Given the description of an element on the screen output the (x, y) to click on. 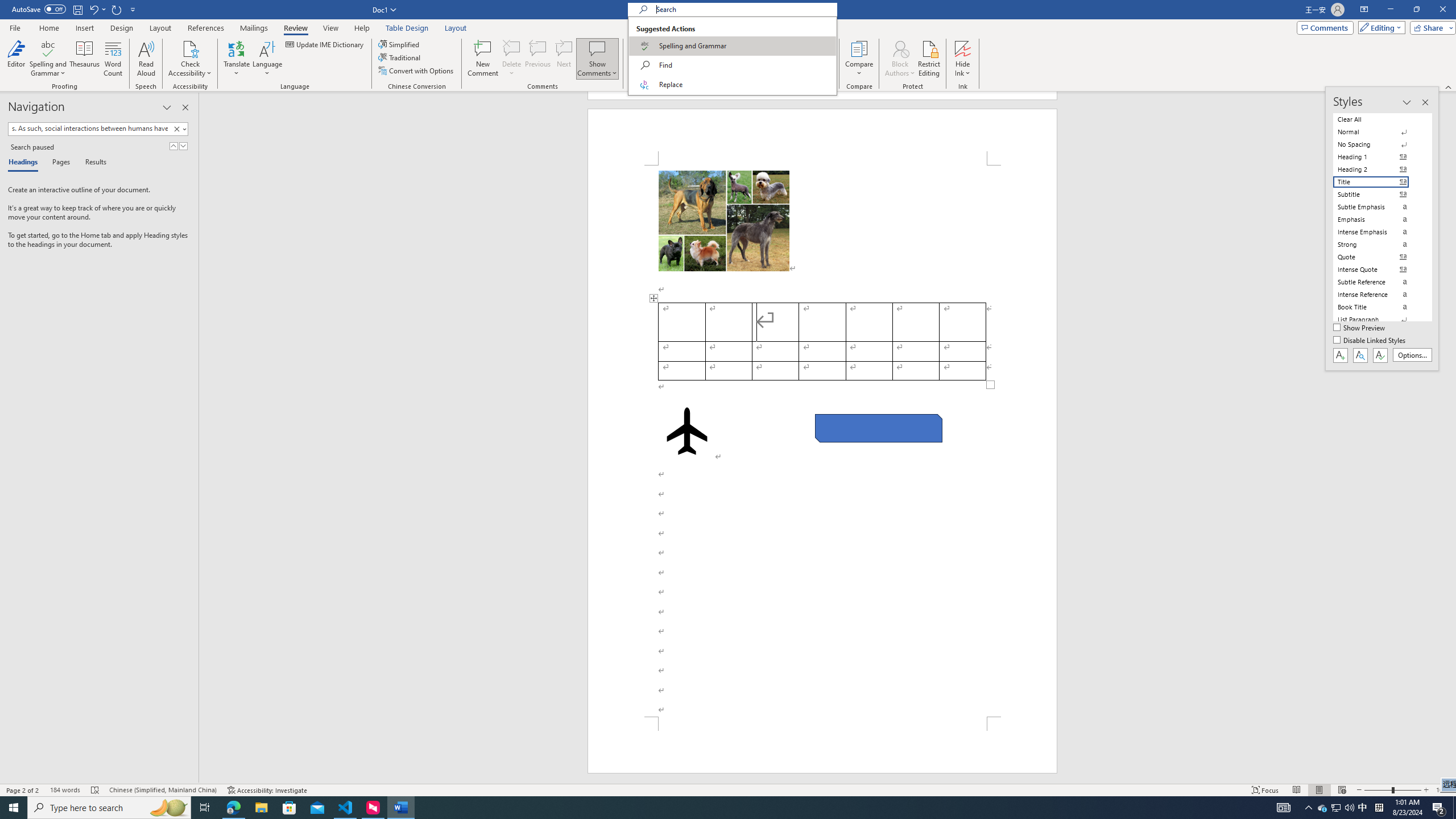
Save (77, 9)
List Paragraph (1377, 319)
Class: NetUIScrollBar (1450, 437)
Intense Emphasis (1377, 232)
Track Changes (644, 48)
New Comment (482, 58)
Accept (756, 58)
Convert with Options... (417, 69)
Search document (89, 128)
Morphological variation in six dogs (723, 220)
Book Title (1377, 306)
Collapse the Ribbon (1448, 86)
Title (1377, 182)
Heading 2 (1377, 169)
Traditional (400, 56)
